Given the description of an element on the screen output the (x, y) to click on. 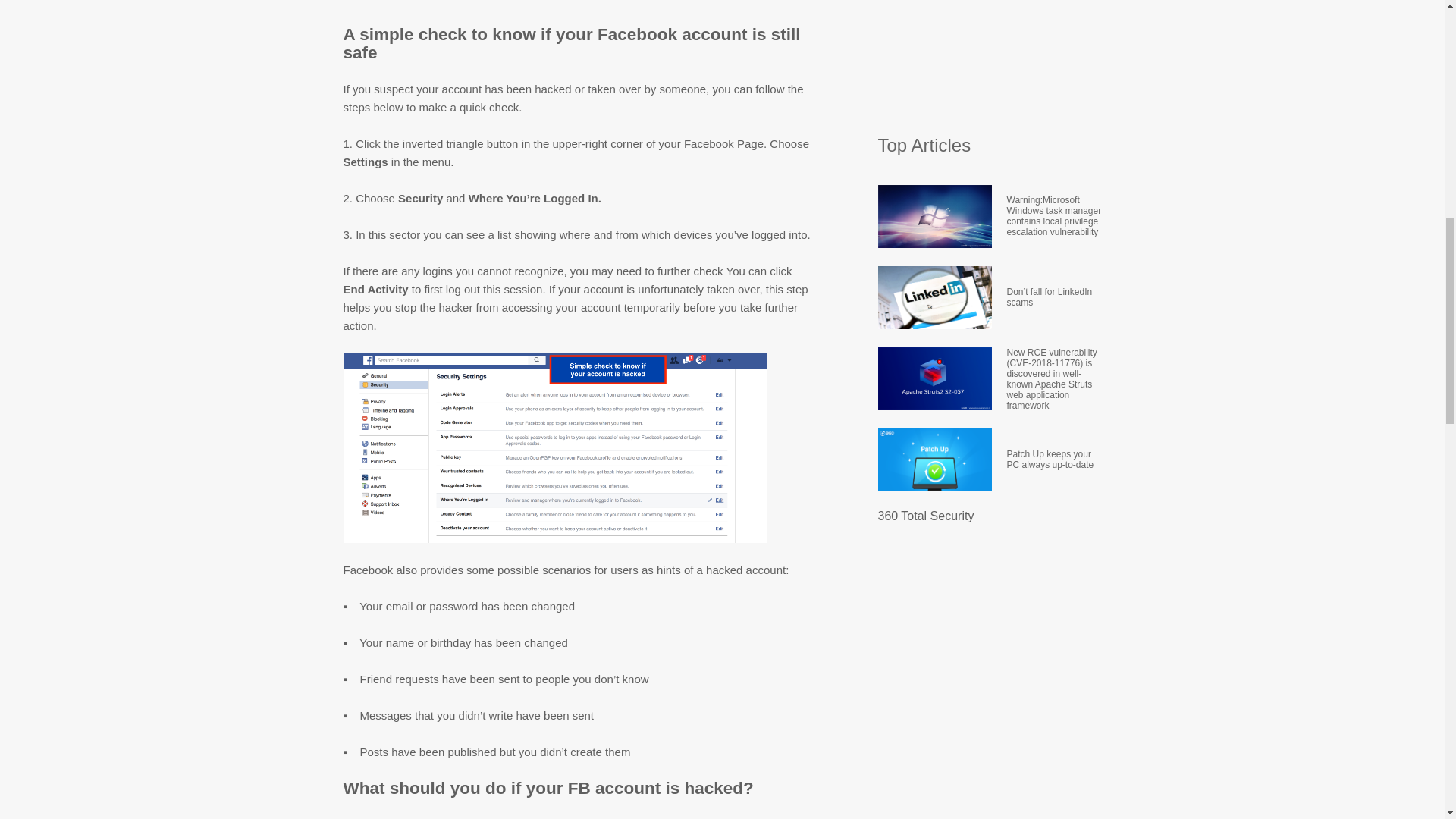
Patch Up keeps your PC always up-to-date (1054, 458)
Advertisement (991, 58)
